Given the description of an element on the screen output the (x, y) to click on. 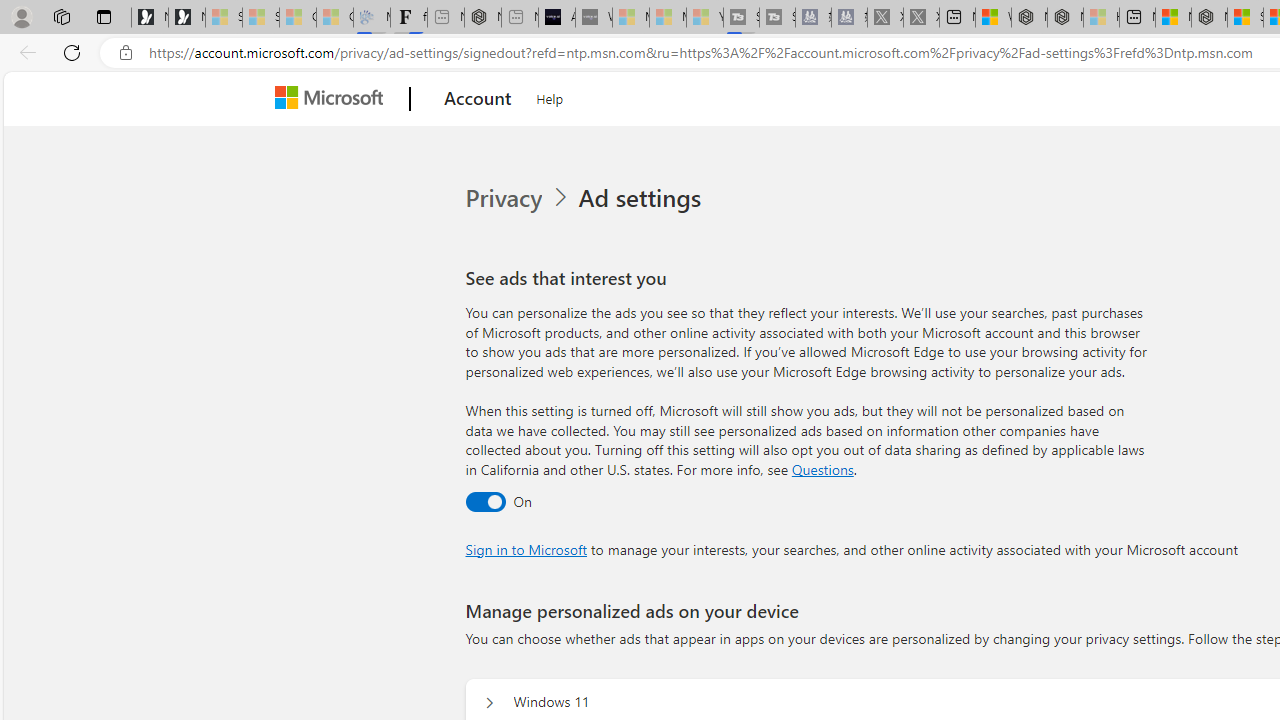
AI Voice Changer for PC and Mac - Voice.ai (556, 17)
Microsoft Start Sports - Sleeping (630, 17)
Help (550, 96)
Ad settings toggle (484, 501)
Manage personalized ads on your device Windows 11 (489, 702)
New tab - Sleeping (519, 17)
Newsletter Sign Up (186, 17)
Nordace - #1 Japanese Best-Seller - Siena Smart Backpack (482, 17)
Streaming Coverage | T3 - Sleeping (741, 17)
Nordace - Nordace Siena Is Not An Ordinary Backpack (1209, 17)
